Given the description of an element on the screen output the (x, y) to click on. 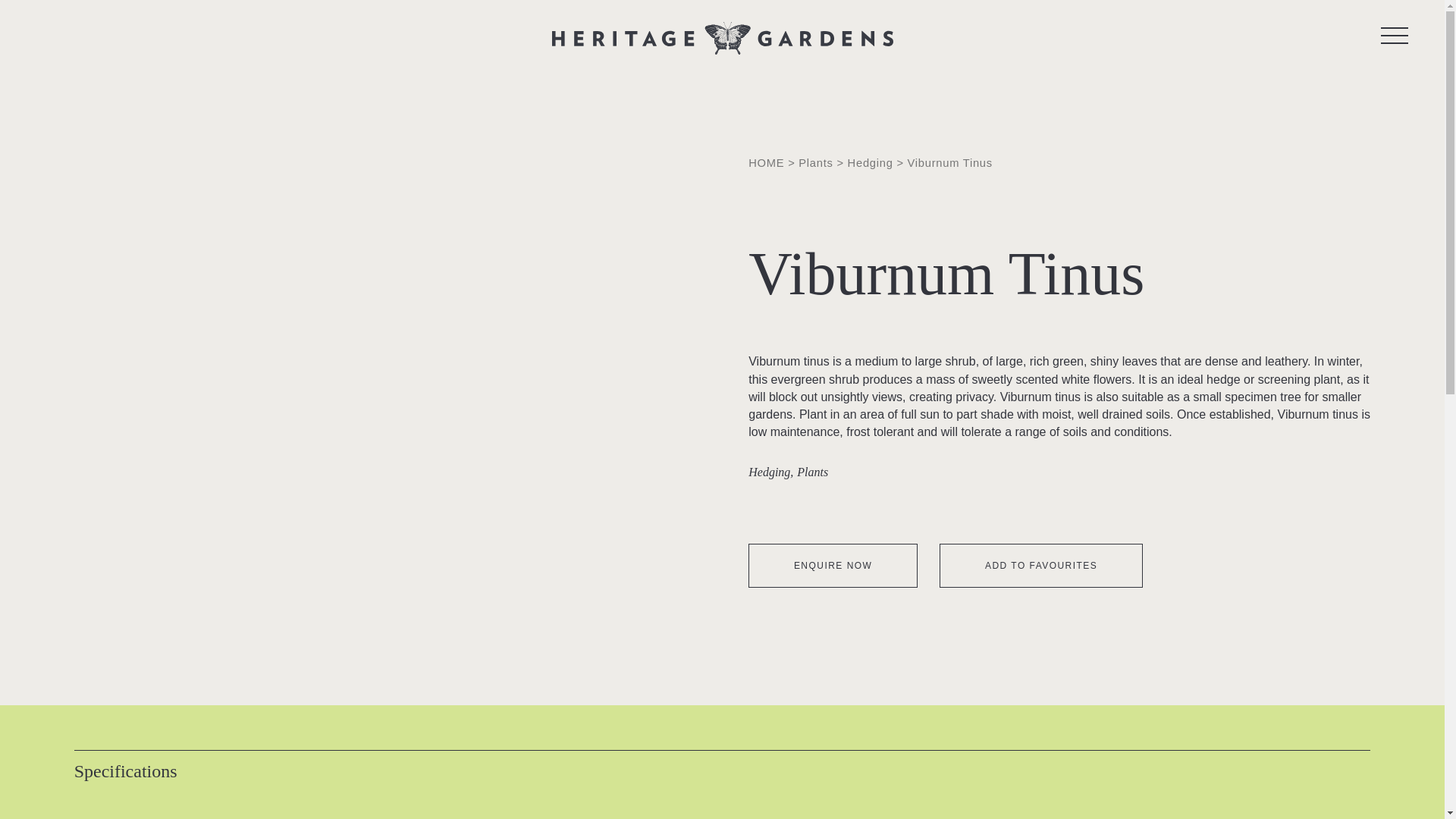
Hedging (870, 162)
HOME (766, 162)
ADD TO FAVOURITES (1040, 565)
Plants (814, 162)
ENQUIRE NOW (832, 565)
